Given the description of an element on the screen output the (x, y) to click on. 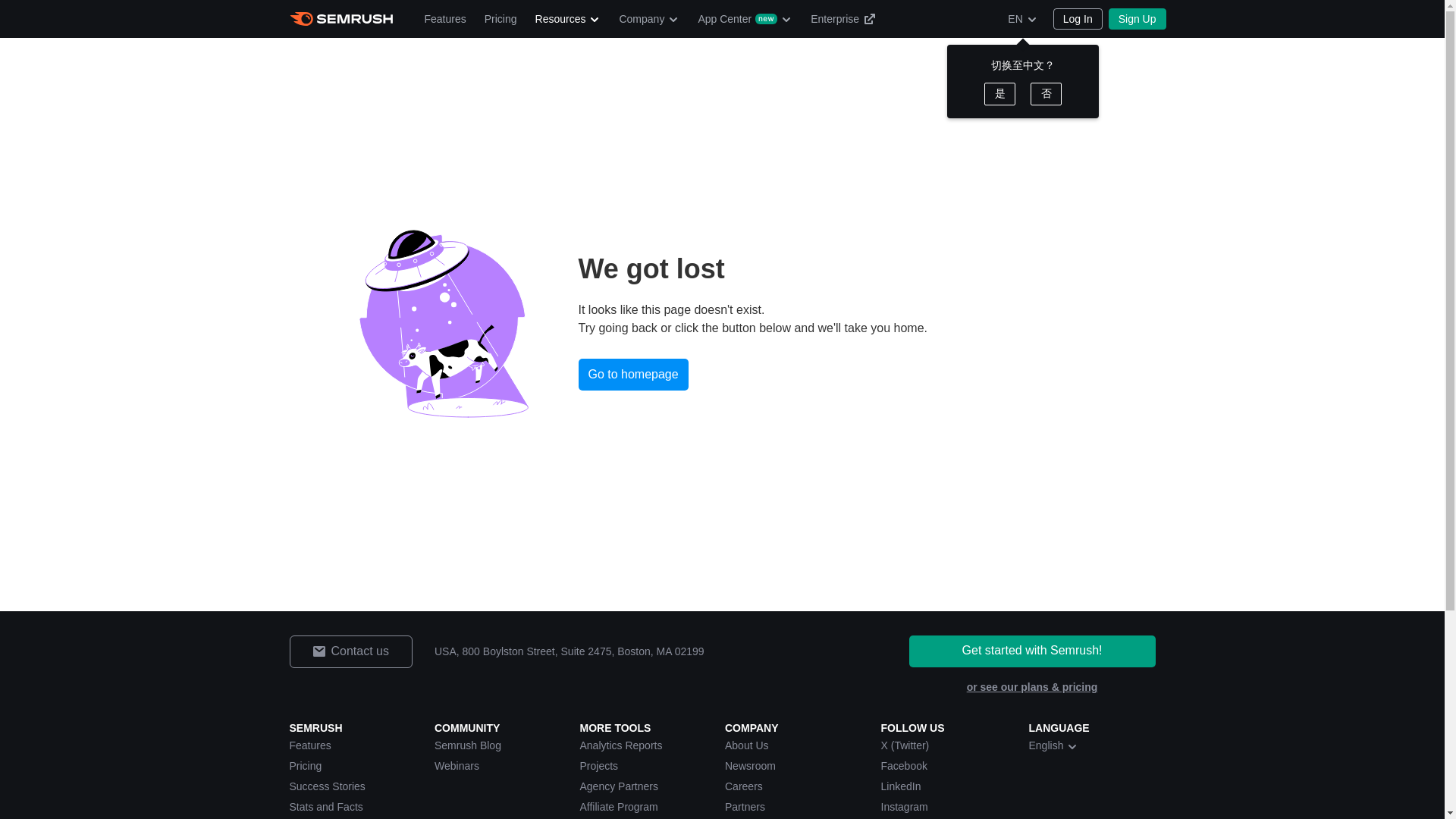
Features (445, 18)
Enterprise (843, 18)
App Center (745, 18)
Company (649, 18)
Resources (567, 18)
Pricing (500, 18)
